Given the description of an element on the screen output the (x, y) to click on. 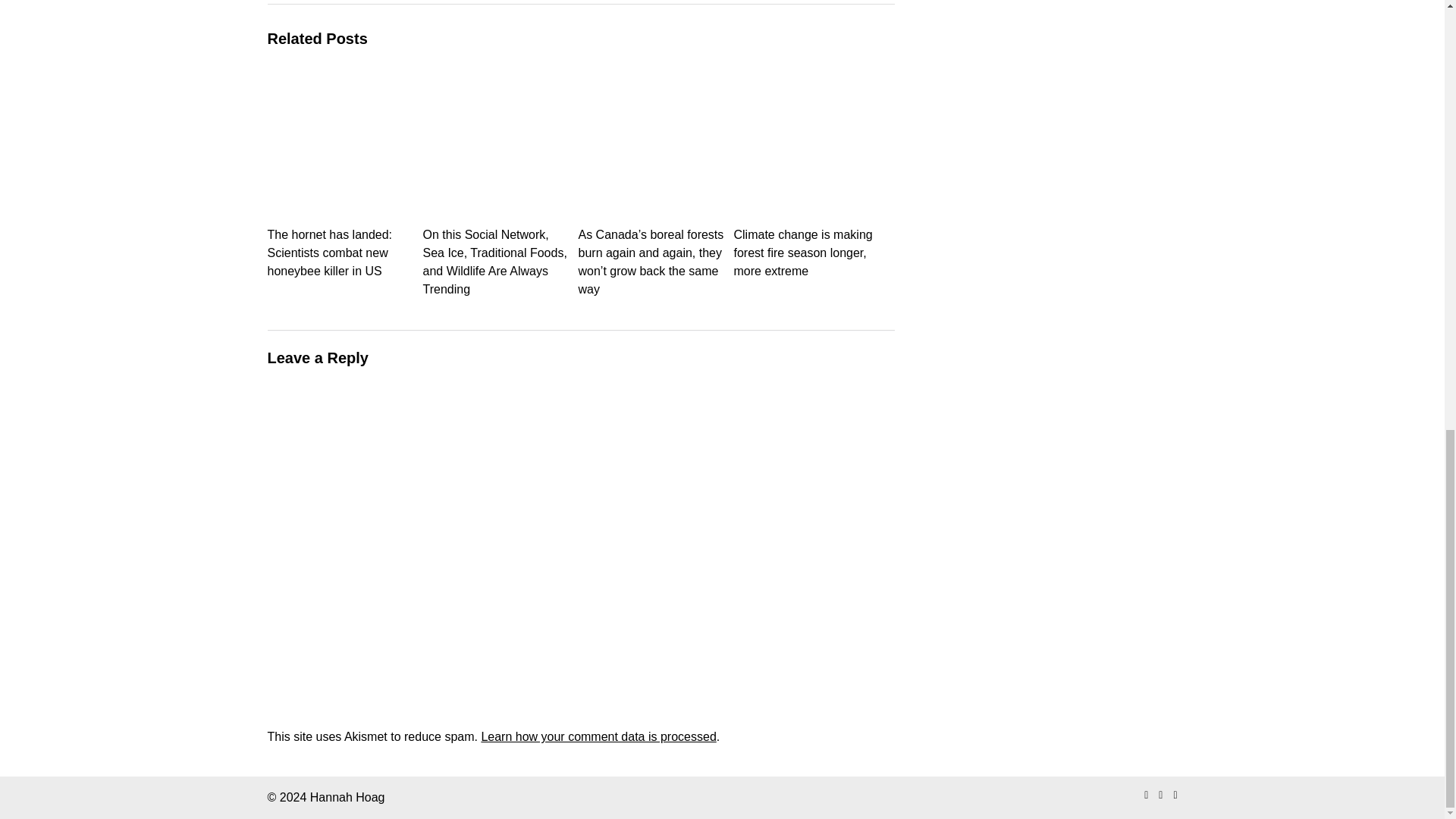
Learn how your comment data is processed (598, 736)
